Given the description of an element on the screen output the (x, y) to click on. 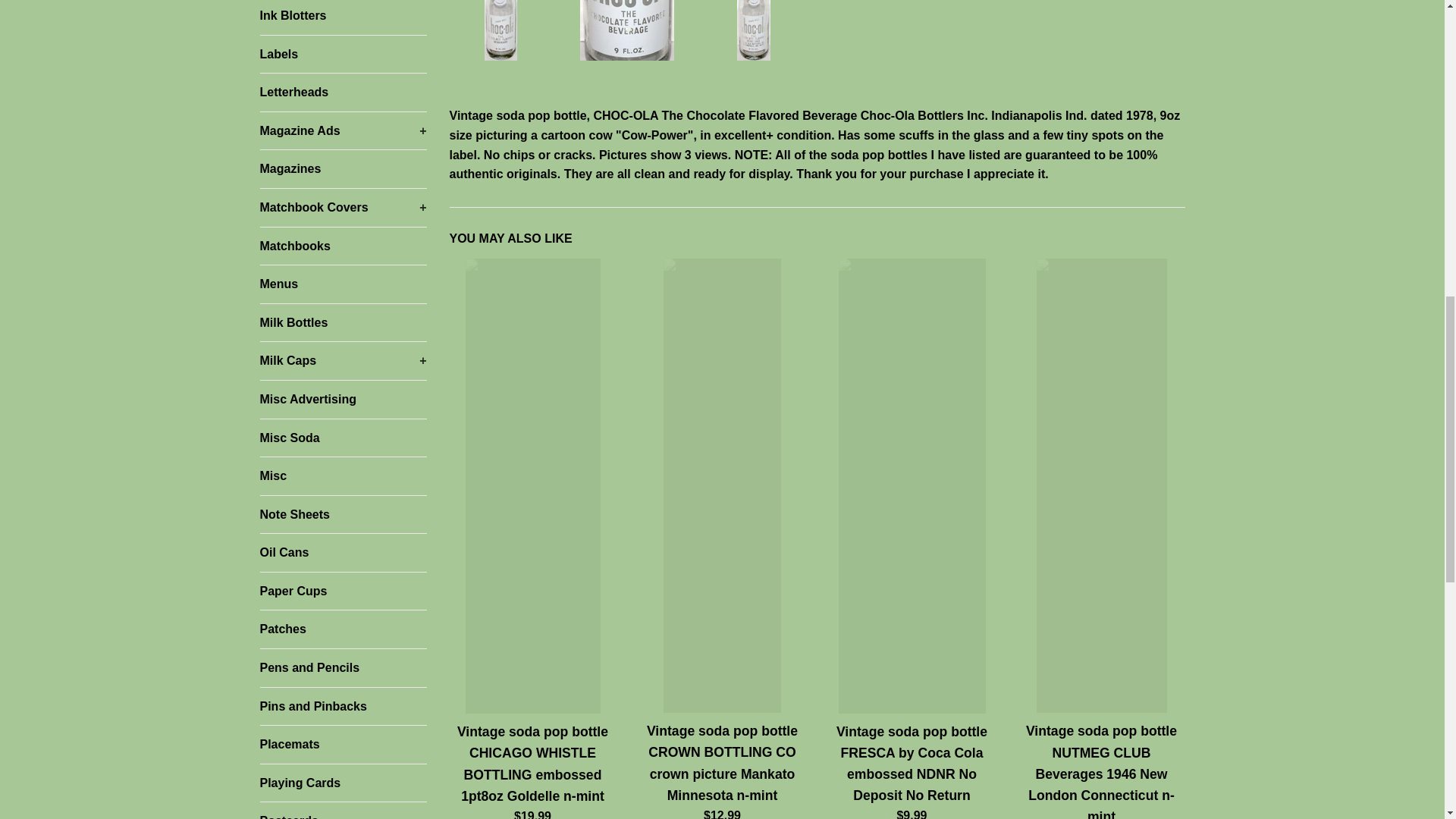
Labels (342, 54)
Letterheads (342, 92)
Ink Blotters (342, 17)
